Given the description of an element on the screen output the (x, y) to click on. 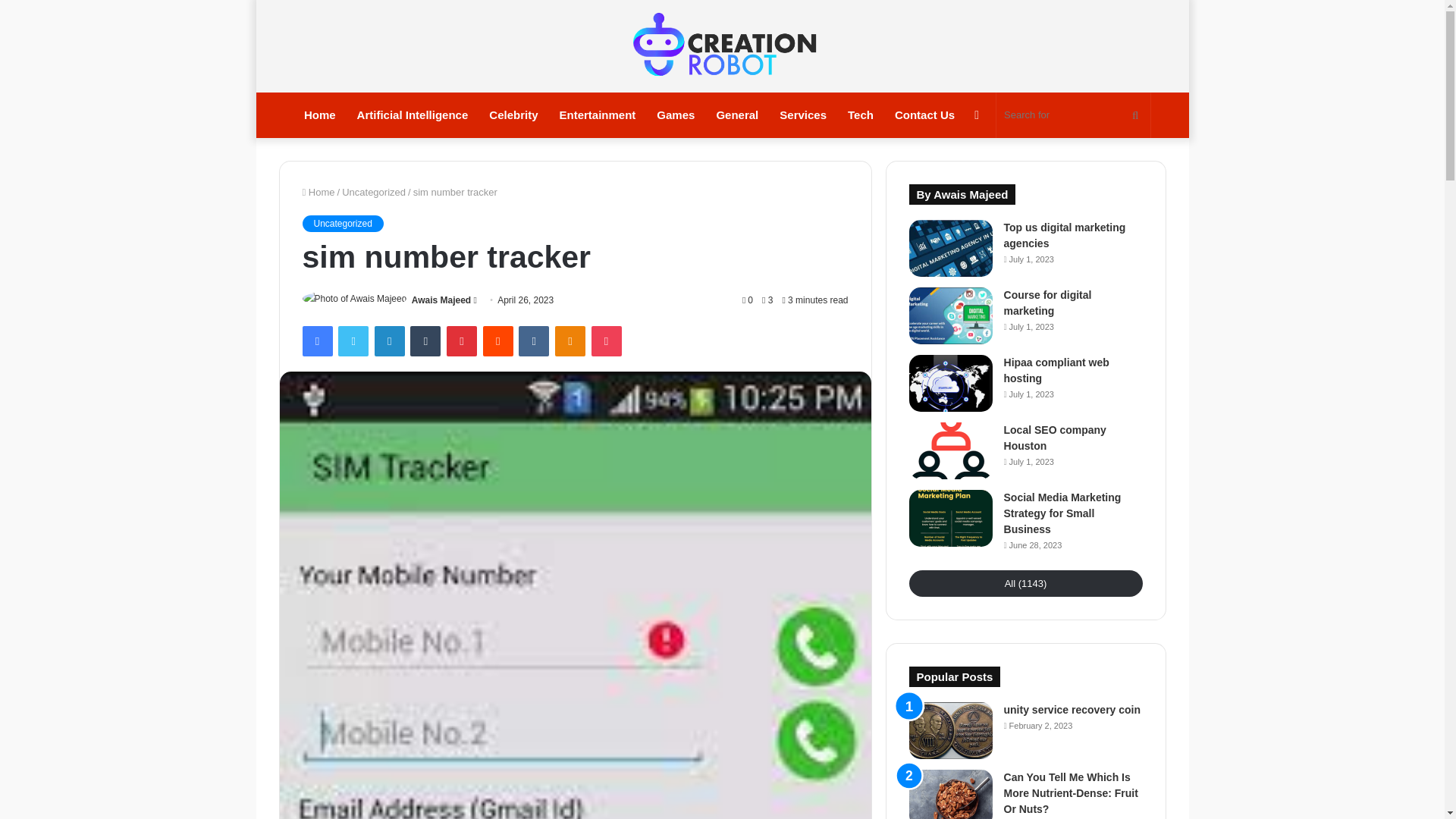
Search for (1072, 115)
General (736, 115)
Uncategorized (374, 192)
Pocket (606, 340)
Reddit (498, 340)
Uncategorized (341, 223)
Celebrity (513, 115)
Pocket (606, 340)
Facebook (316, 340)
VKontakte (533, 340)
Pinterest (461, 340)
Awais Majeed (441, 299)
LinkedIn (389, 340)
Odnoklassniki (569, 340)
Pinterest (461, 340)
